Given the description of an element on the screen output the (x, y) to click on. 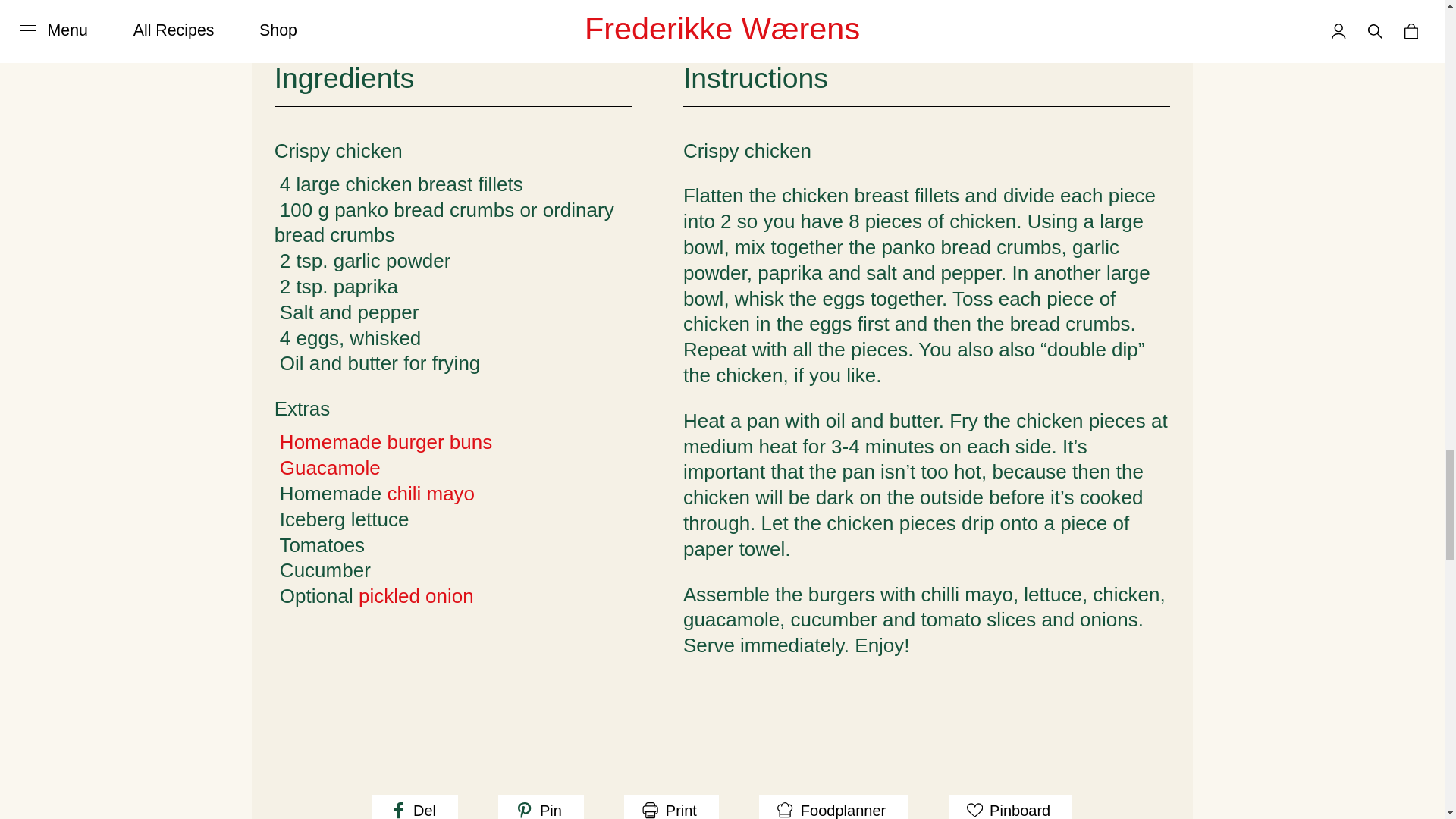
Pinboard (1011, 806)
Guacamole (329, 467)
Pin (540, 806)
pickled onion (416, 595)
Homemade burger buns (385, 441)
Print (671, 806)
Foodplanner (832, 806)
Del (415, 806)
chili mayo (430, 493)
